Given the description of an element on the screen output the (x, y) to click on. 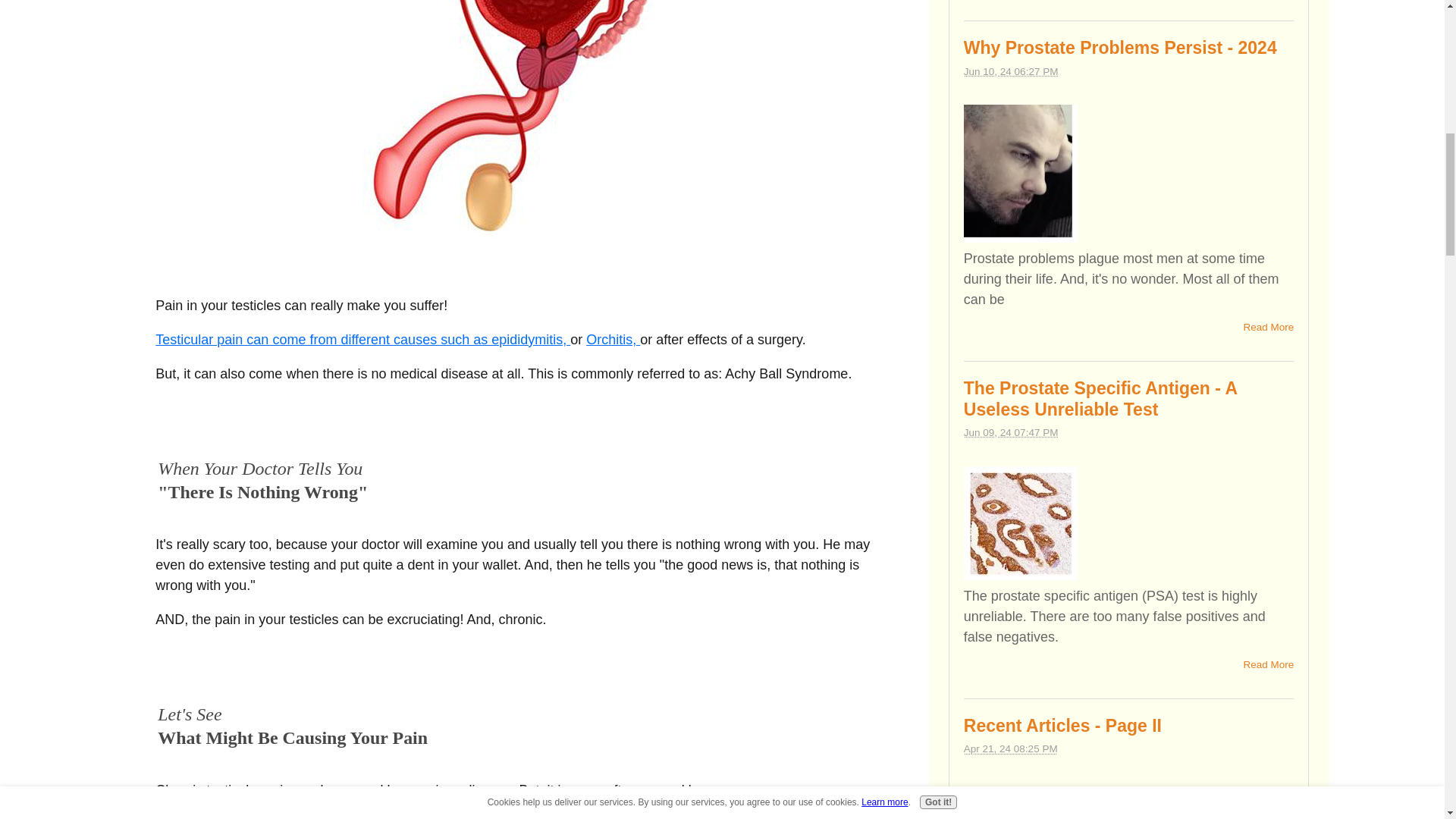
2024-06-10T18:27:44-0400 (1010, 71)
2024-04-21T20:25:59-0400 (1010, 748)
2024-06-09T19:47:45-0400 (1010, 432)
testicular pain and achy ball syndrome (516, 125)
